Given the description of an element on the screen output the (x, y) to click on. 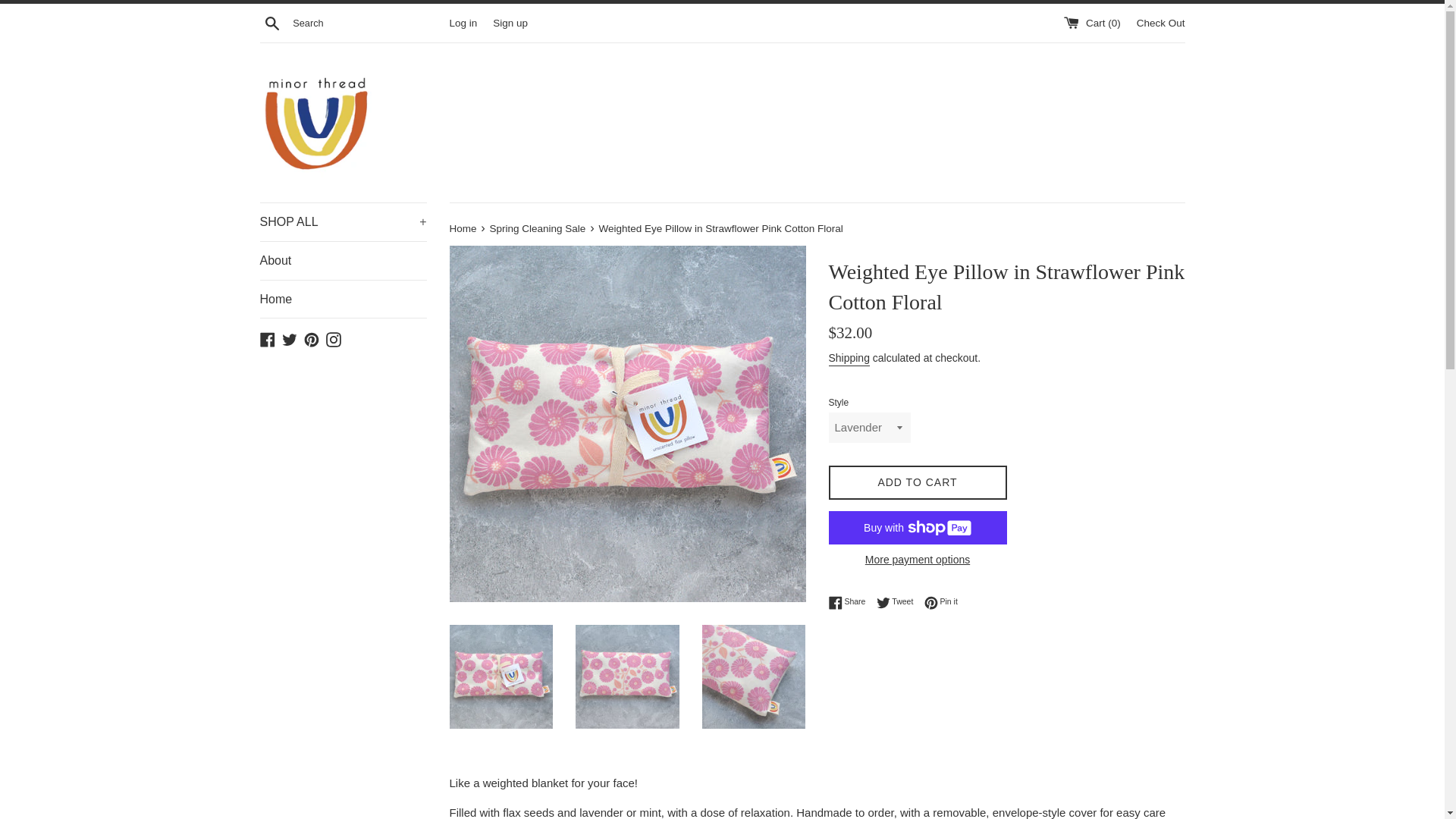
Search (271, 21)
Check Out (1161, 21)
Twitter (289, 338)
Shipping (848, 359)
ADD TO CART (917, 482)
Sign up (850, 602)
Facebook (510, 21)
Share on Facebook (267, 338)
Instagram (850, 602)
Home (333, 338)
Minor Thread on Pinterest (463, 228)
Log in (311, 338)
Minor Thread on Instagram (462, 21)
